Given the description of an element on the screen output the (x, y) to click on. 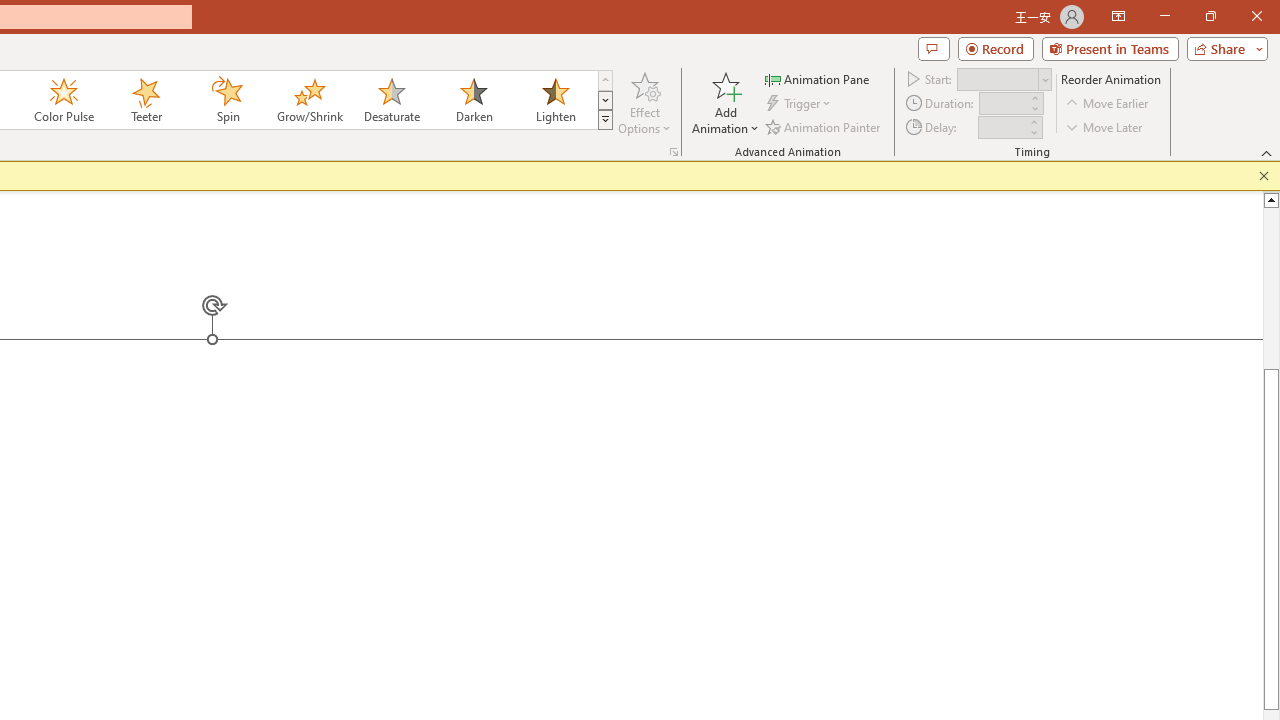
Animation Delay (1002, 127)
Darken (473, 100)
